Given the description of an element on the screen output the (x, y) to click on. 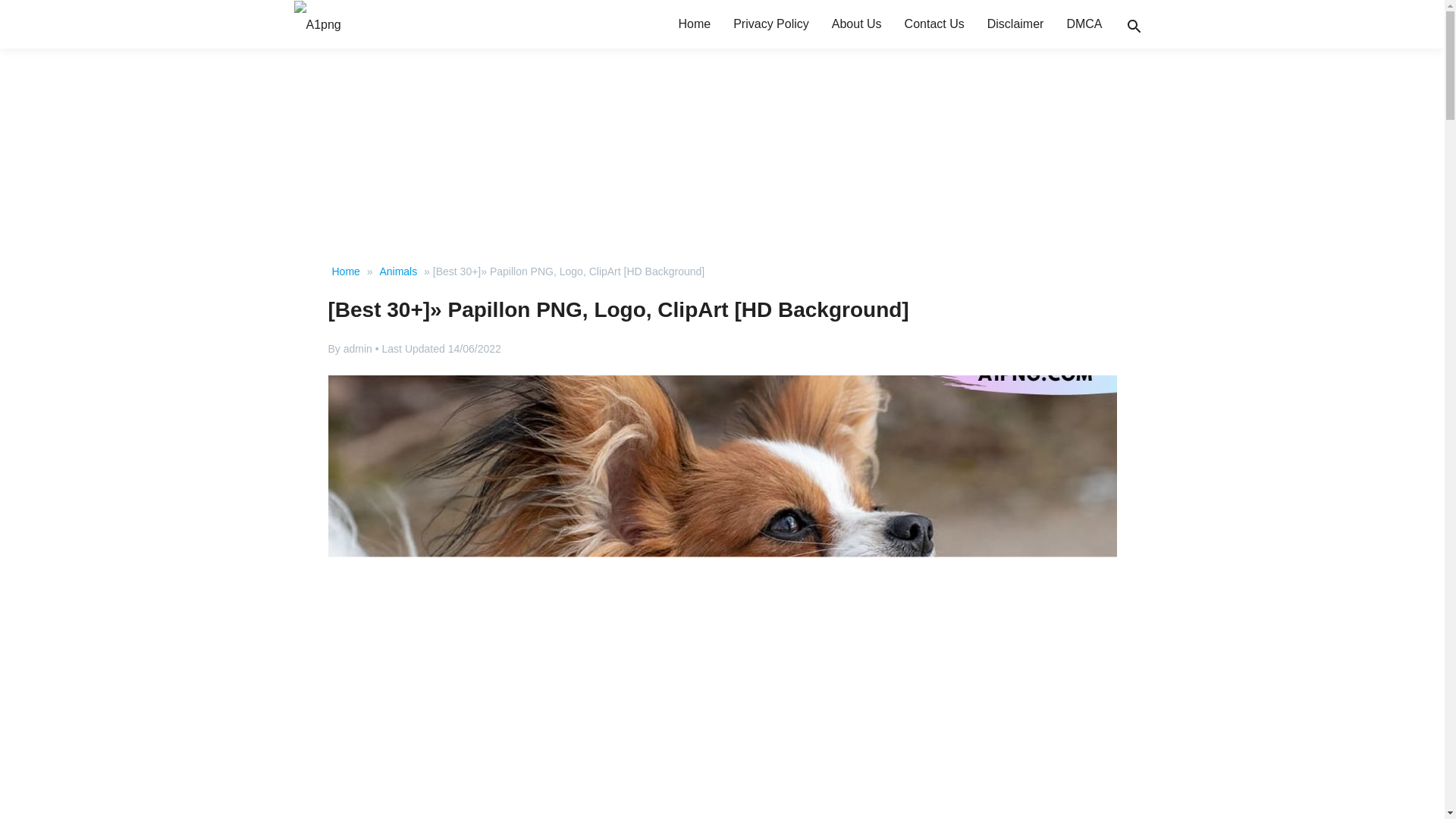
Home (694, 24)
DMCA (1083, 24)
Privacy Policy (771, 24)
Home (344, 271)
Disclaimer (1015, 24)
Contact Us (934, 24)
Animals (397, 271)
About Us (857, 24)
